Given the description of an element on the screen output the (x, y) to click on. 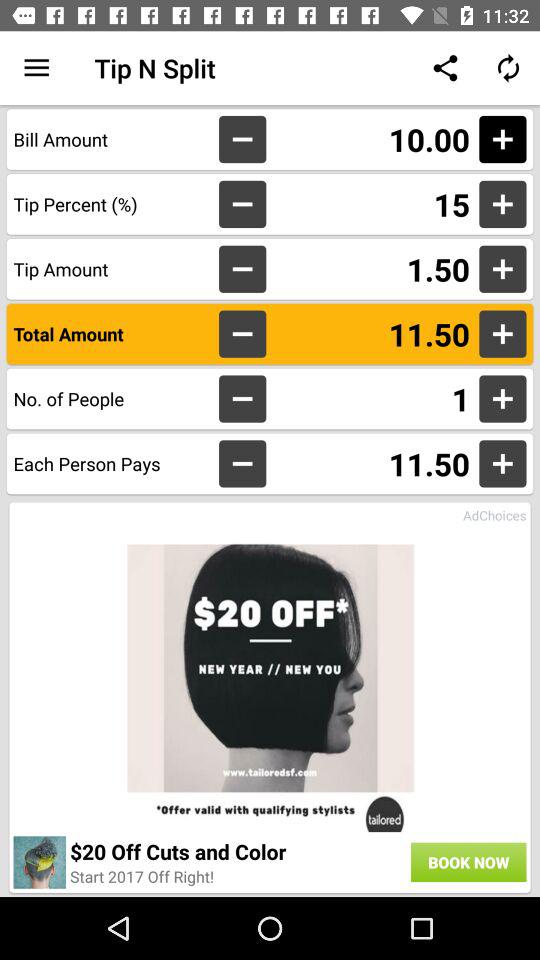
swipe until 11.00 item (372, 139)
